Given the description of an element on the screen output the (x, y) to click on. 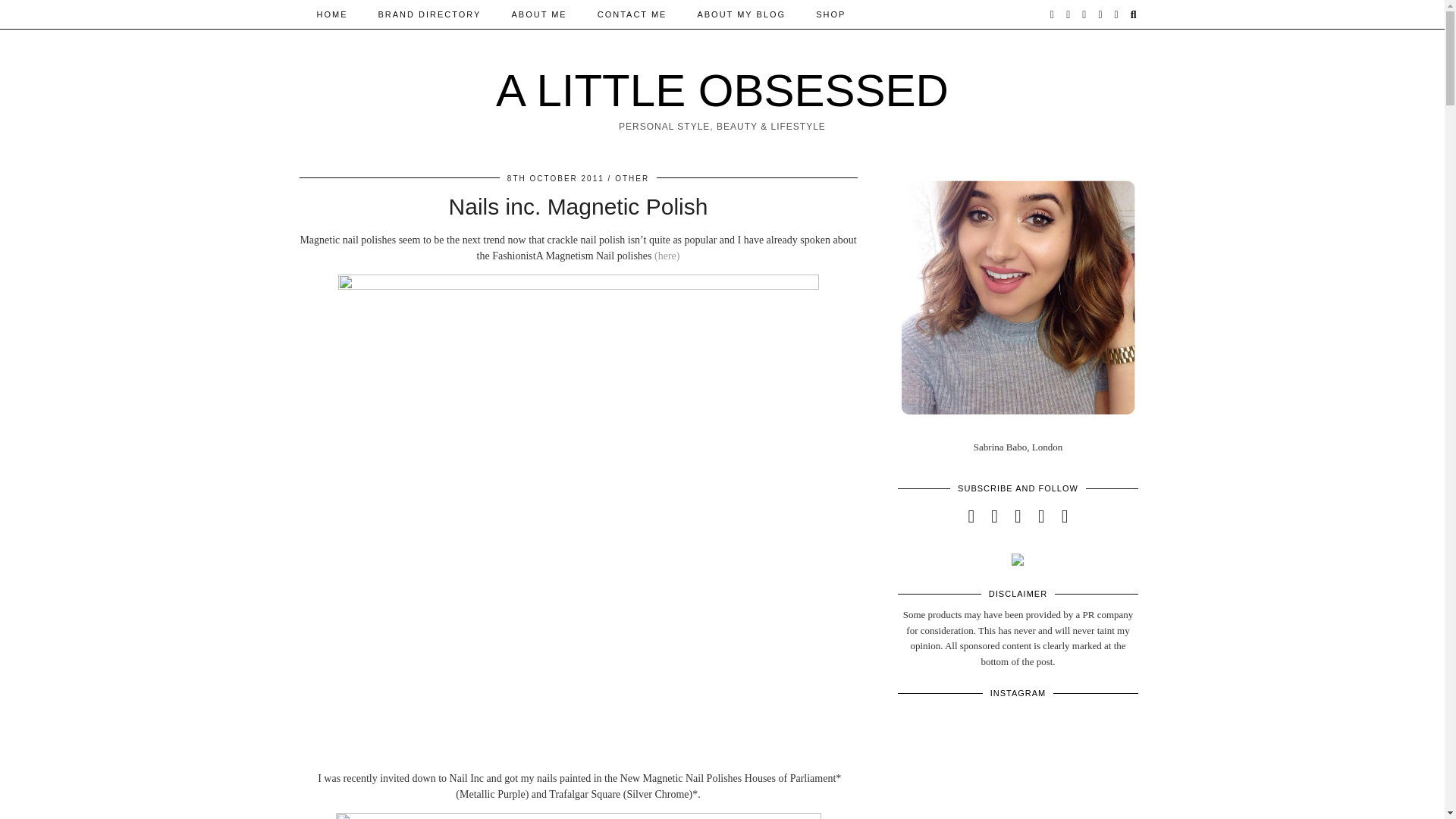
A LITTLE OBSESSED (722, 90)
BRAND DIRECTORY (429, 14)
A LITTLE OBSESSED (722, 90)
HOME (331, 14)
ABOUT MY BLOG (740, 14)
ABOUT ME (538, 14)
OTHER (631, 178)
SHOP (830, 14)
CONTACT ME (632, 14)
